Given the description of an element on the screen output the (x, y) to click on. 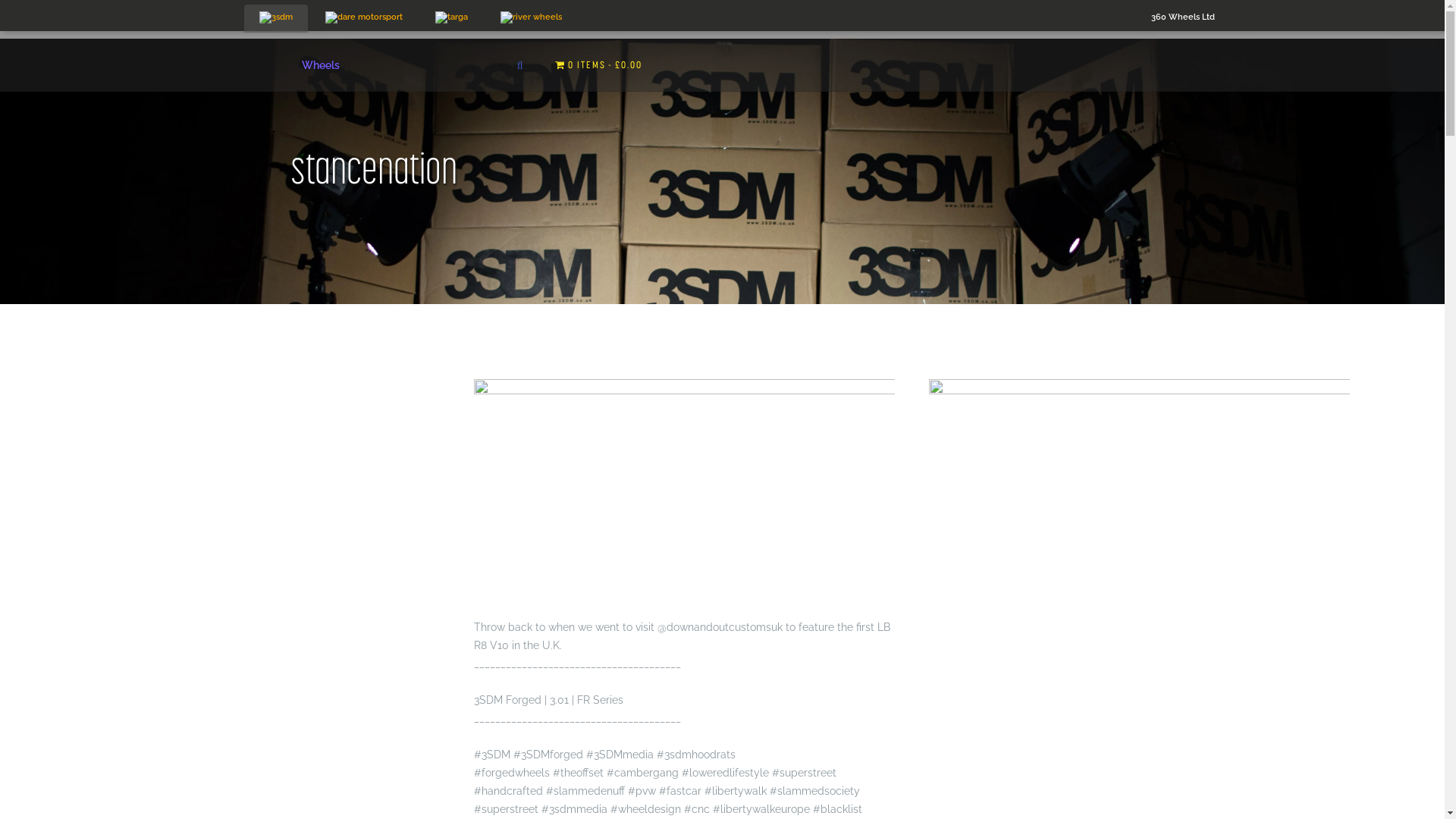
SHOP Element type: text (548, 24)
FW MANUFACTURING Element type: text (727, 24)
OUR WHEELS Element type: text (619, 24)
GALLERY Element type: text (872, 24)
360 Wheels Ltd Element type: text (1182, 16)
BLOG Element type: text (921, 24)
CONTACT Element type: text (970, 24)
STOCKIST Element type: text (812, 24)
